Given the description of an element on the screen output the (x, y) to click on. 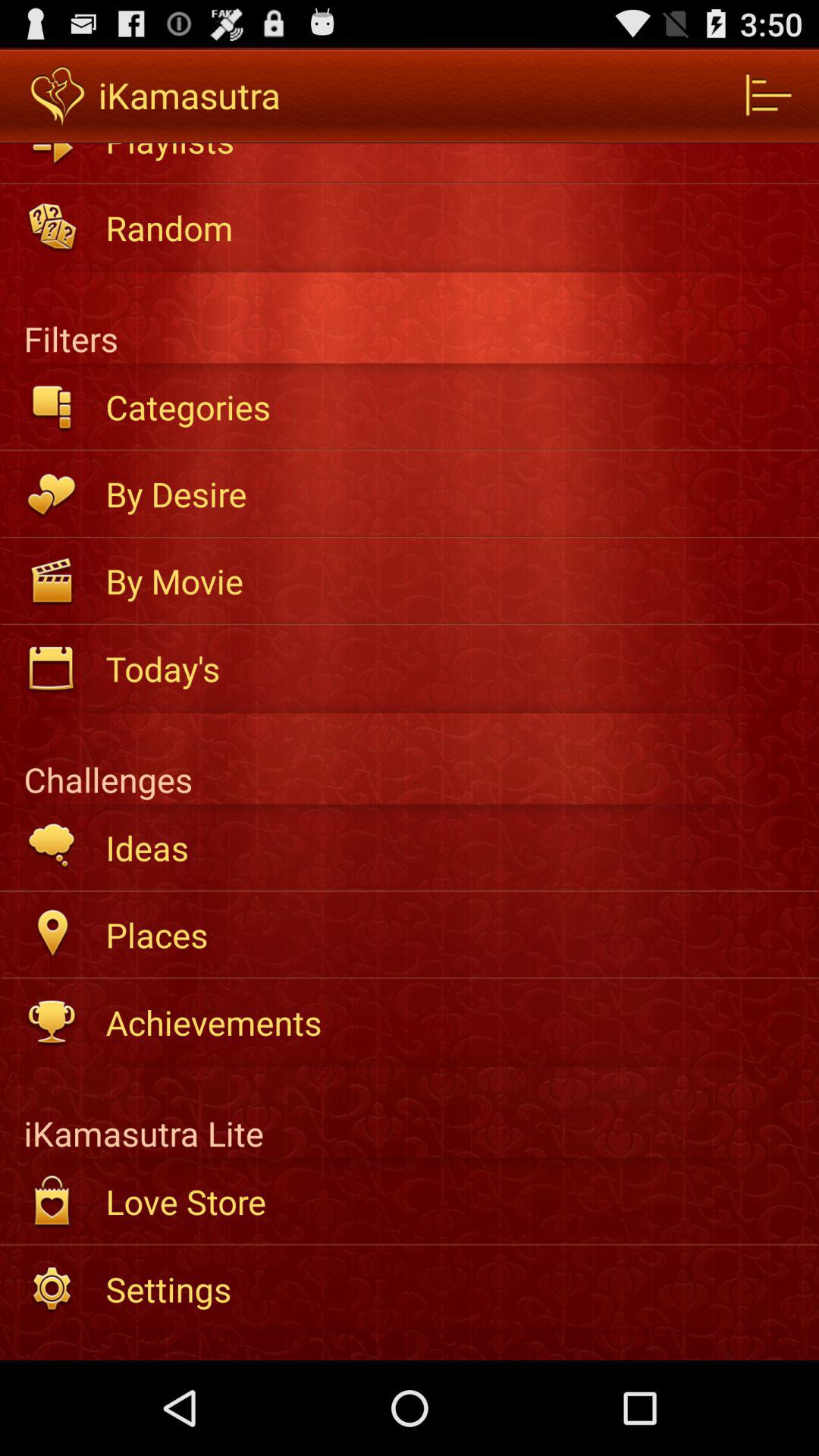
choose by movie icon (452, 580)
